Given the description of an element on the screen output the (x, y) to click on. 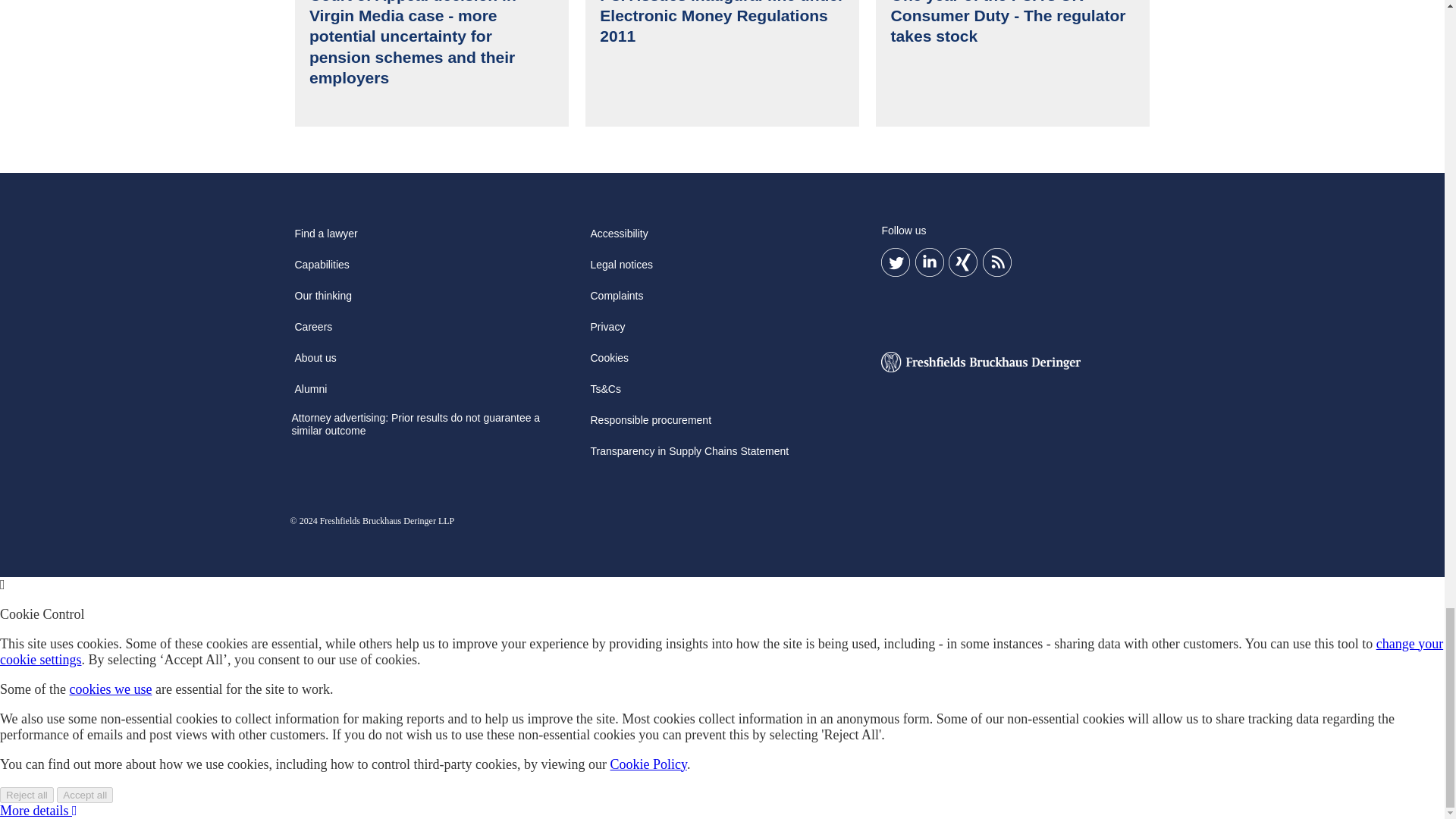
Privacy (606, 574)
About us (315, 605)
Accessibility (618, 481)
Find a lawyer (325, 481)
Complaints (616, 543)
Careers (312, 574)
Our thinking (322, 543)
Responsible procurement (650, 667)
Legal notices (621, 512)
Cookies (608, 605)
